Given the description of an element on the screen output the (x, y) to click on. 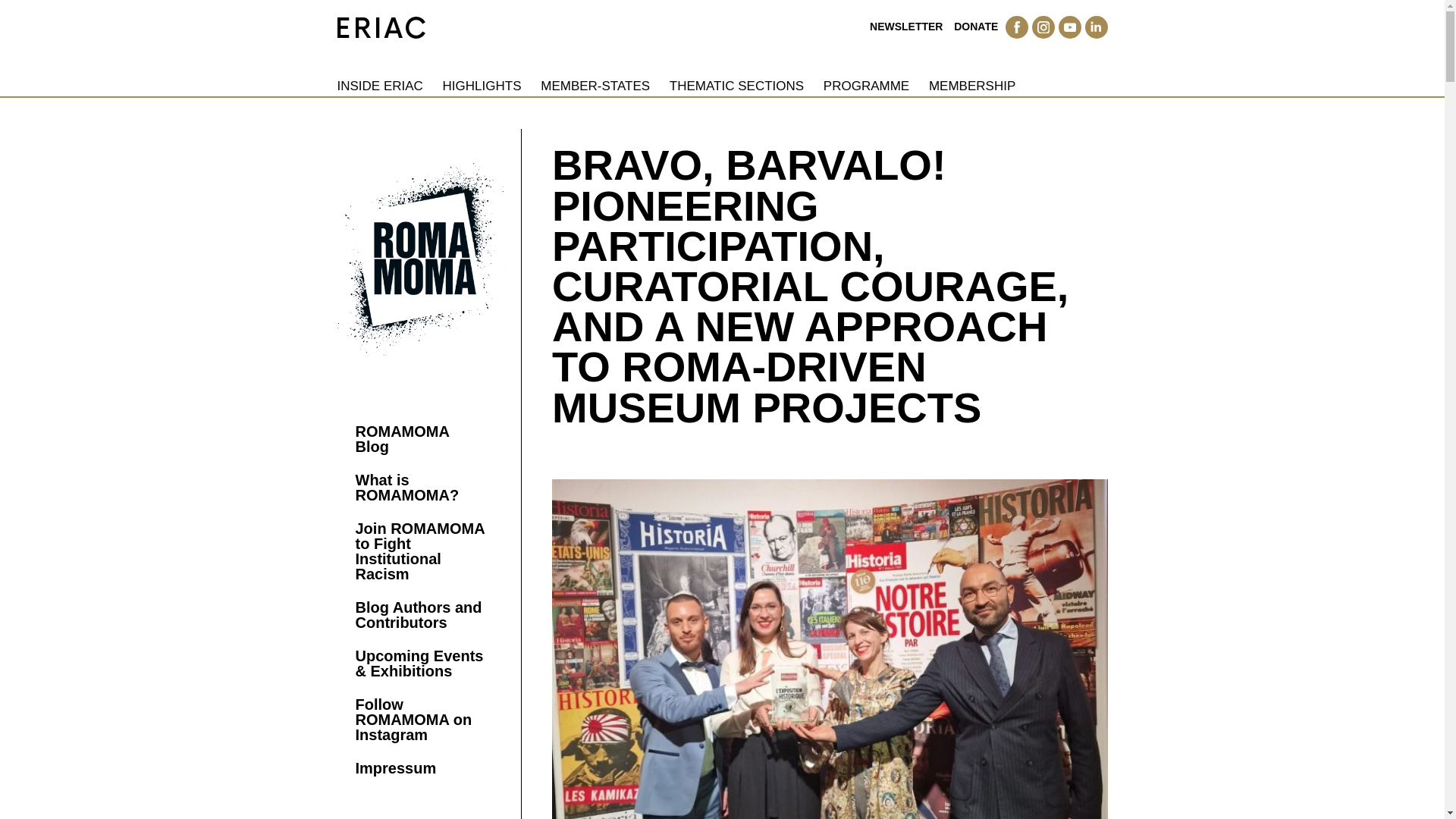
HIGHLIGHTS (481, 86)
NEWSLETTER (905, 26)
INSIDE ERIAC (379, 86)
DONATE (975, 26)
